Given the description of an element on the screen output the (x, y) to click on. 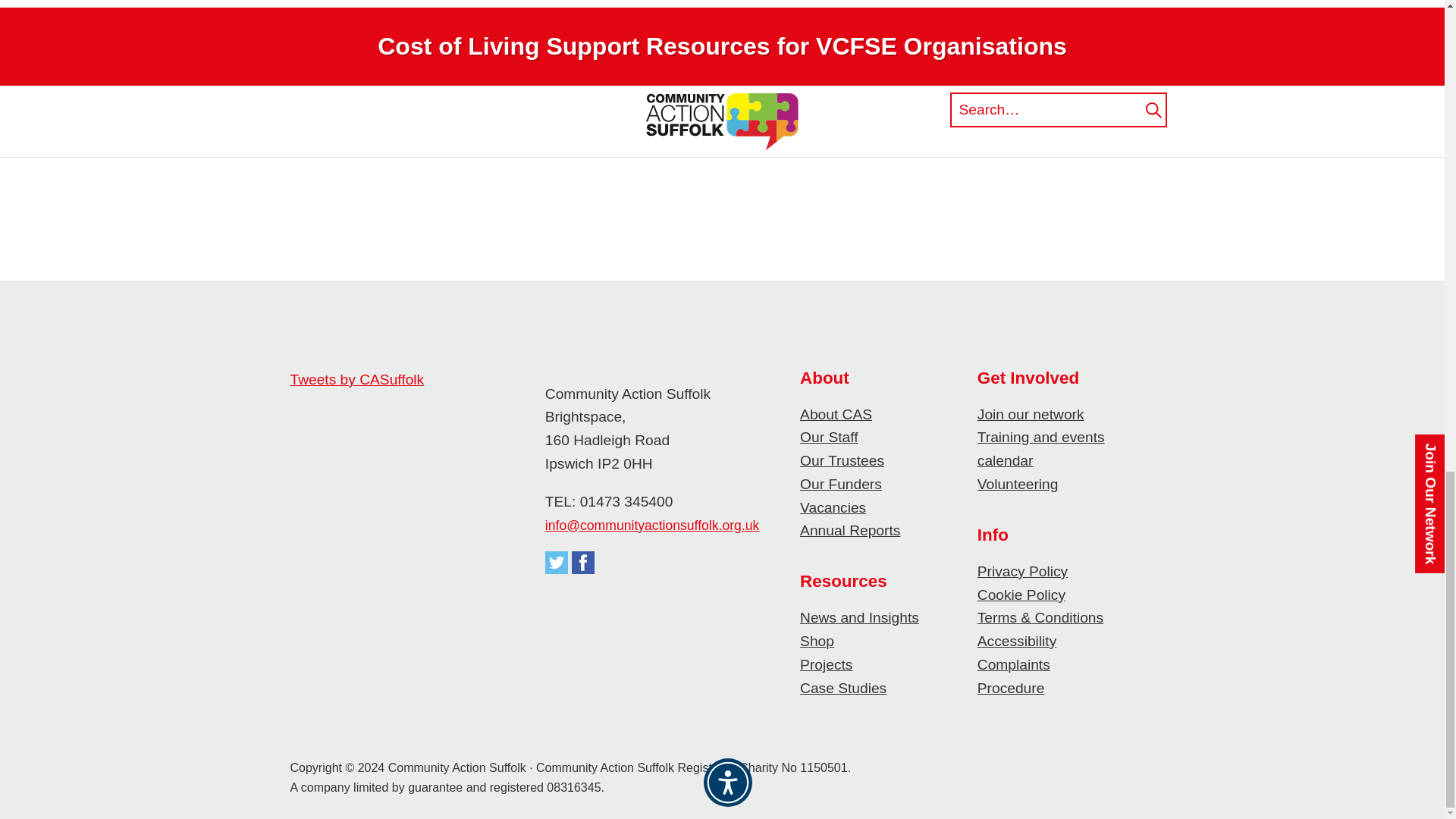
Blog (487, 137)
Case Studies (842, 688)
Privacy Policy (1021, 571)
Training and events calendar (1040, 448)
Annual Reports (849, 530)
Complaints Procedure (1012, 676)
Our Funders (840, 483)
About CAS (835, 414)
News and Insights (858, 617)
Shop (816, 641)
Our Trustees (841, 460)
Vacancies (832, 506)
Our Staff (828, 437)
Projects (825, 664)
Volunteering (1017, 483)
